Given the description of an element on the screen output the (x, y) to click on. 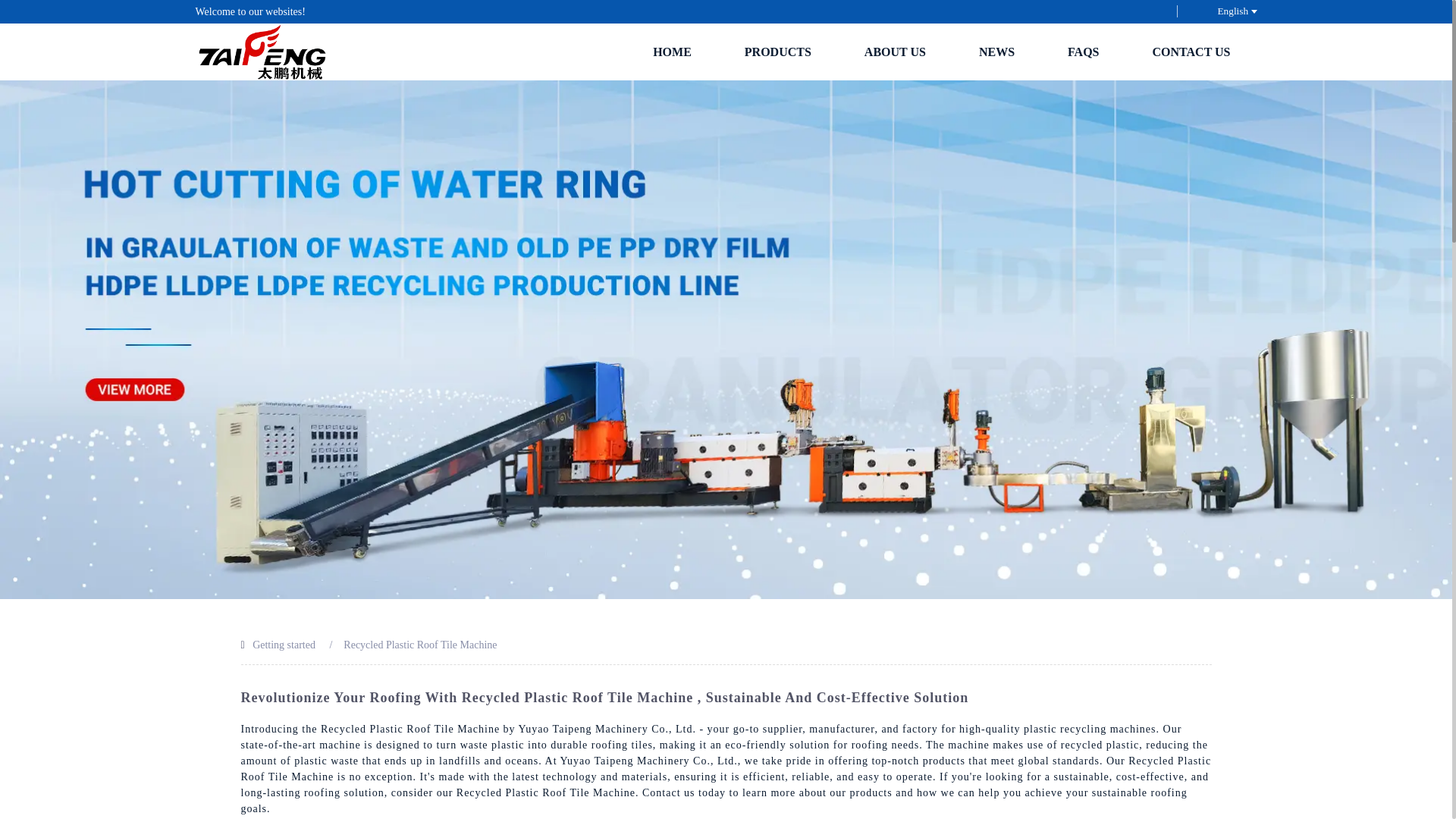
FAQS (1083, 51)
English (1224, 10)
NEWS (996, 51)
Recycled Plastic Roof Tile Machine (419, 644)
HOME (671, 51)
CONTACT US (1191, 51)
ABOUT US (895, 51)
PRODUCTS (777, 51)
Getting started (283, 644)
